Given the description of an element on the screen output the (x, y) to click on. 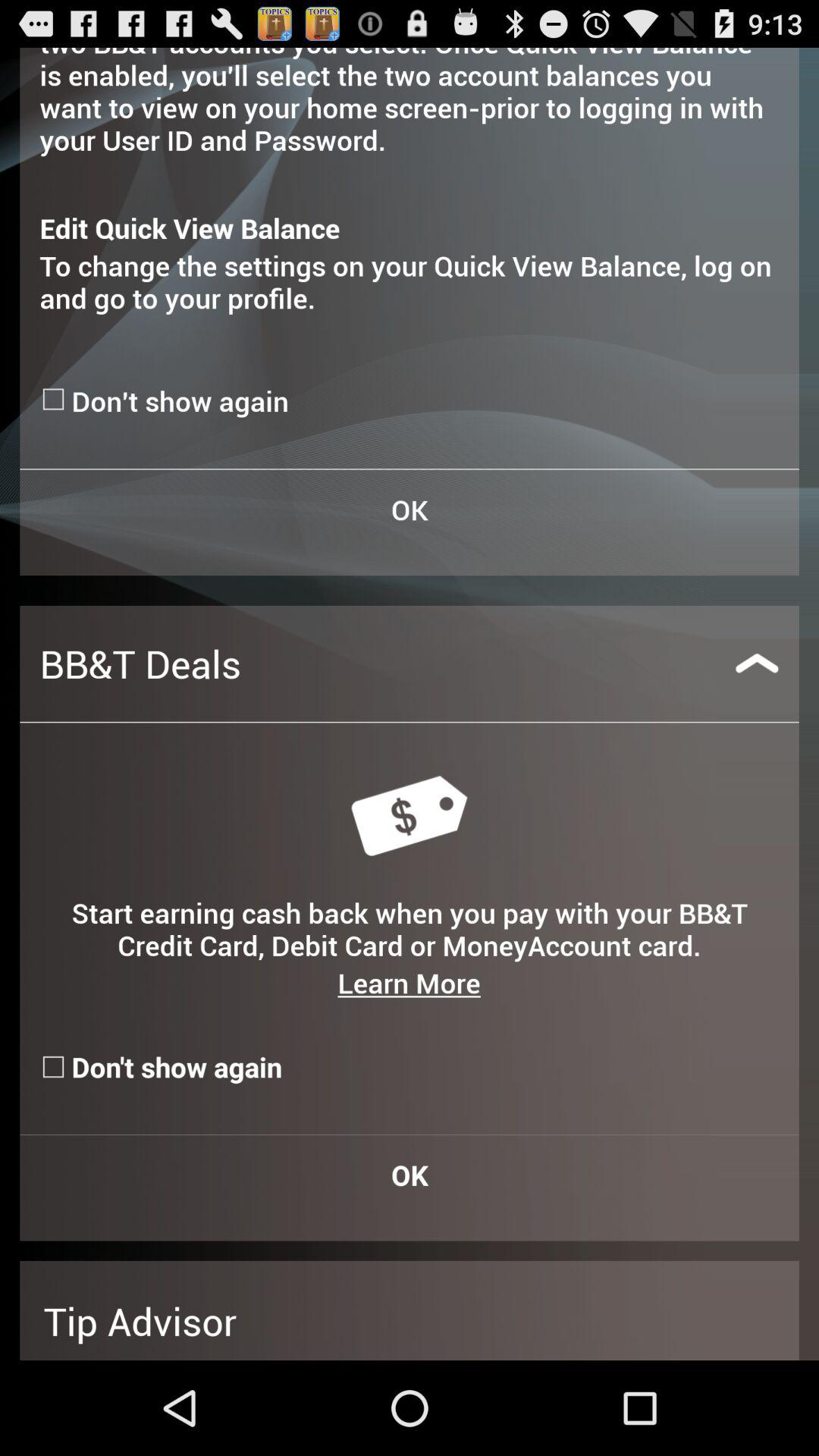
select the item below start earning cash icon (408, 982)
